Given the description of an element on the screen output the (x, y) to click on. 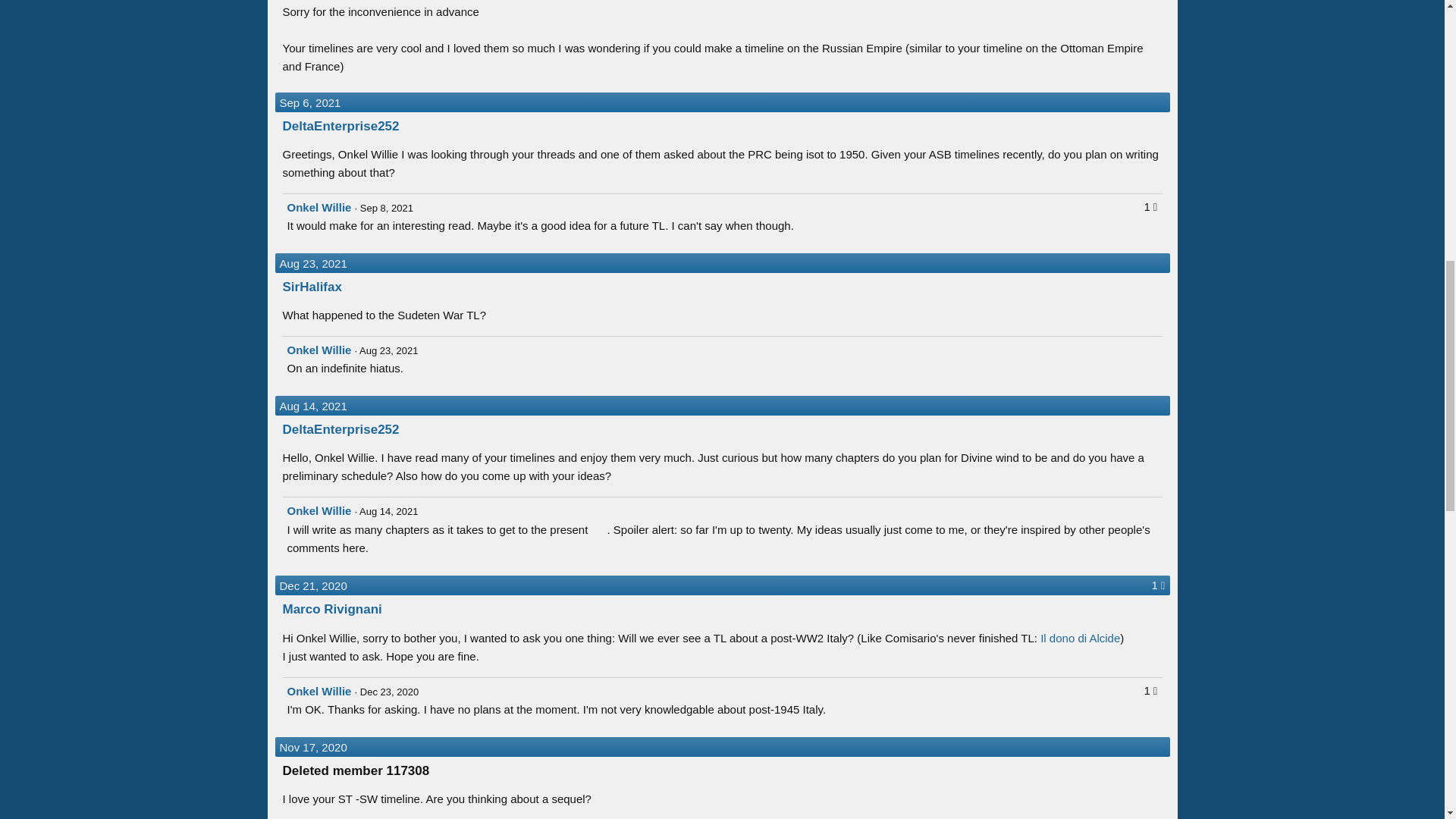
Aug 23, 2021 at 6:30 PM (387, 350)
Sep 8, 2021 at 5:51 PM (384, 207)
Sep 6, 2021 at 7:29 PM (309, 102)
Aug 23, 2021 at 11:39 AM (312, 263)
Aug 14, 2021 at 2:17 AM (312, 405)
